Given the description of an element on the screen output the (x, y) to click on. 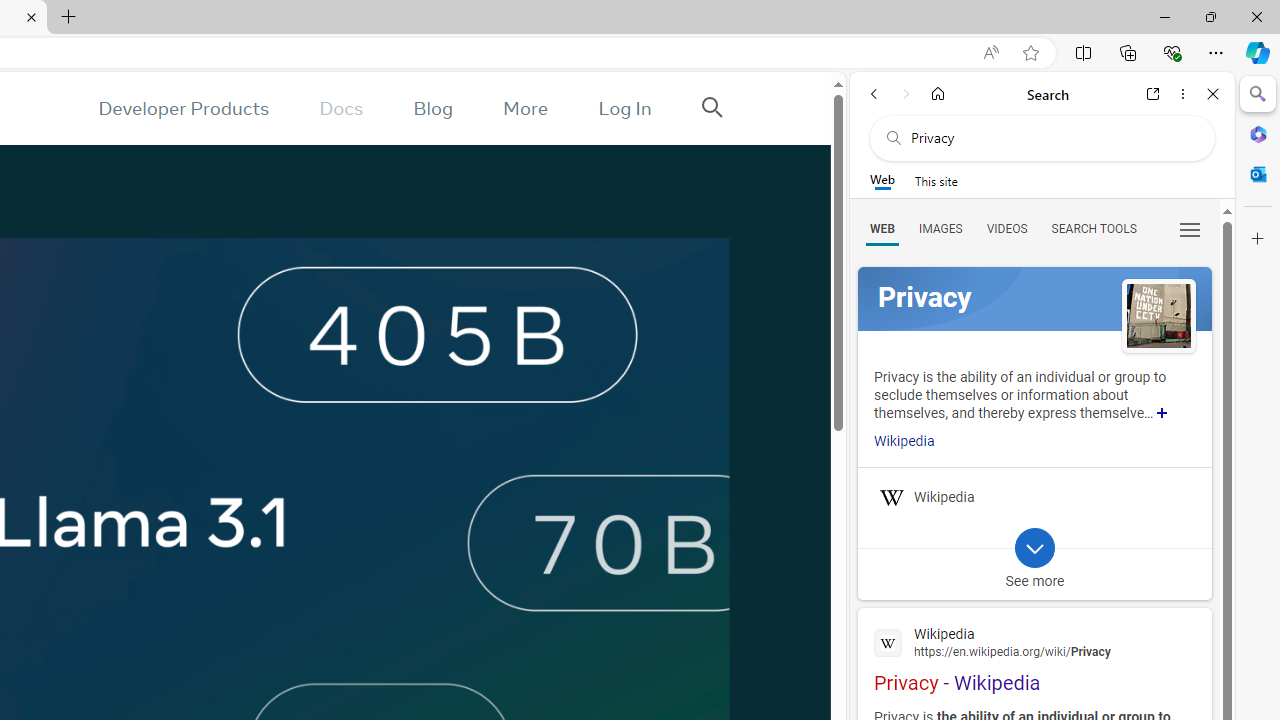
This site scope (936, 180)
Docs (341, 108)
Show more (1162, 412)
Search Filter, IMAGES (939, 228)
Search Filter, Search Tools (1093, 228)
Class: b_serphb (1190, 229)
Log In (625, 108)
Search Filter, WEB (882, 228)
Developer Products (183, 108)
Log In (625, 108)
See more images of Privacy (1158, 315)
